Given the description of an element on the screen output the (x, y) to click on. 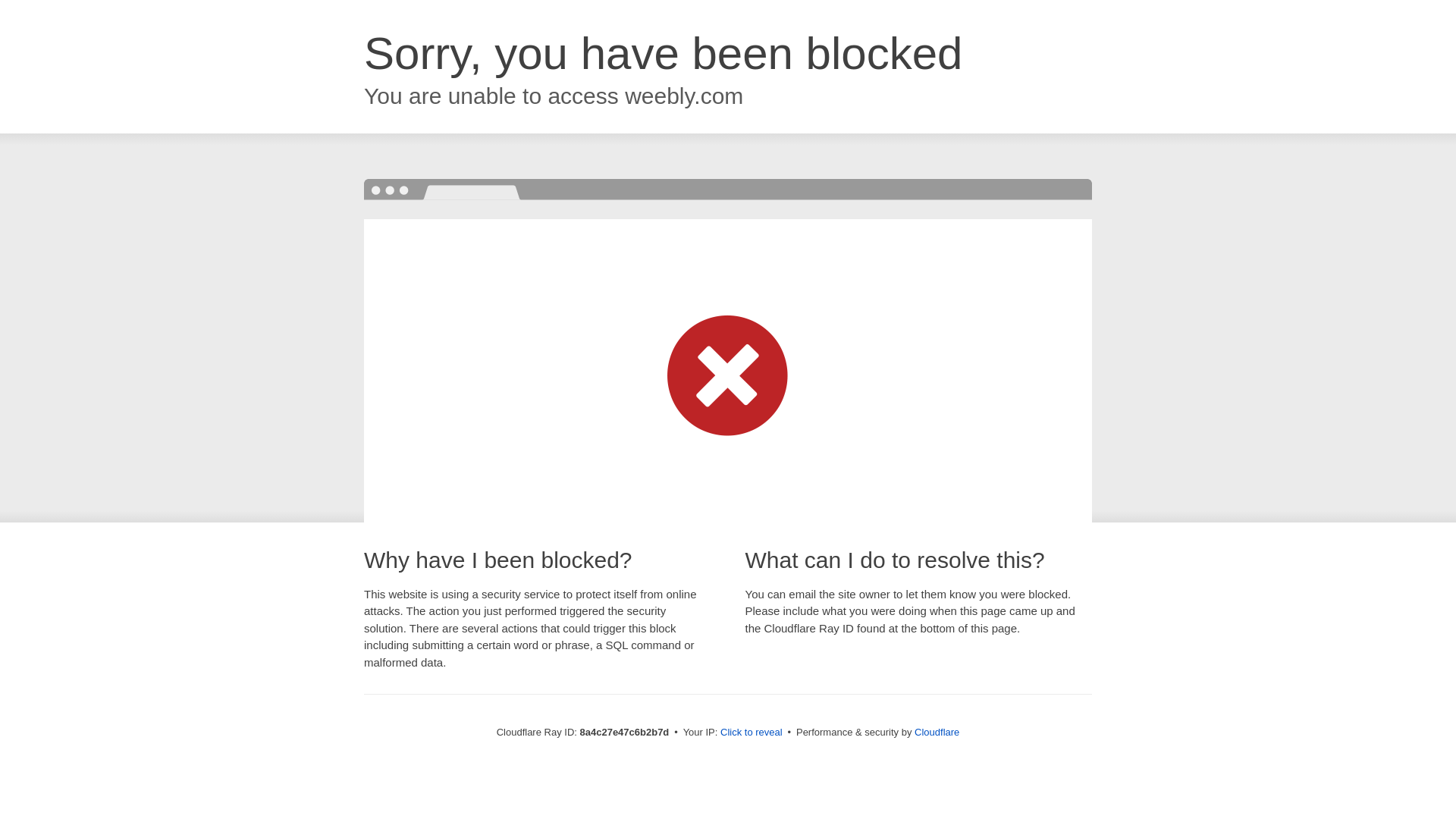
Cloudflare (936, 731)
Click to reveal (751, 732)
